Given the description of an element on the screen output the (x, y) to click on. 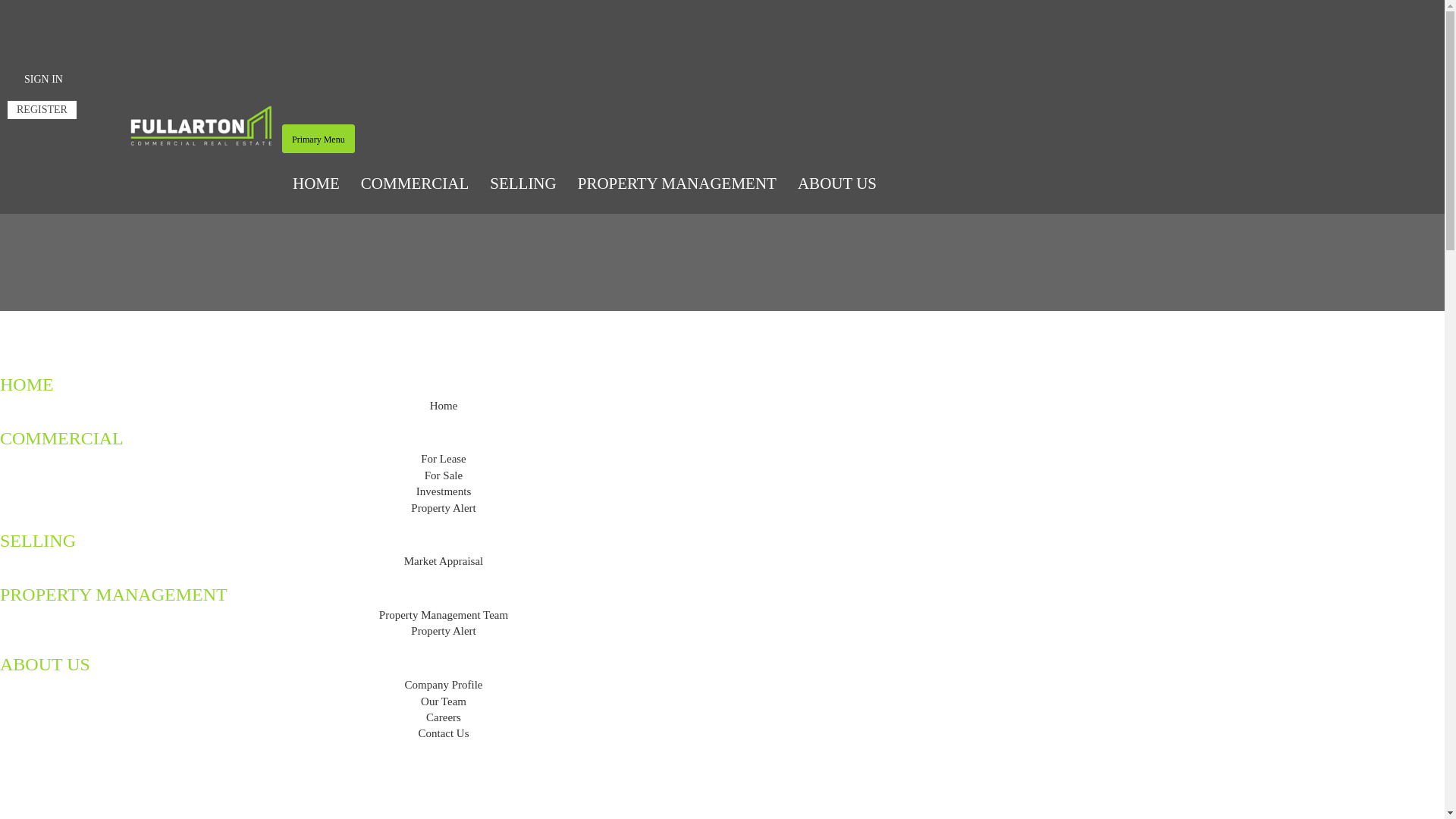
Investments Element type: text (443, 491)
SIGN IN Element type: text (43, 79)
Home Element type: text (30, 156)
HOME Element type: text (316, 183)
SELLING Element type: text (523, 183)
Property Management Team Element type: text (443, 614)
COMMERCIAL Element type: text (414, 183)
For Lease Element type: text (443, 458)
Property Alert Element type: text (443, 508)
Market Appraisal Element type: text (443, 561)
Careers Element type: text (443, 717)
Contact Us Element type: text (442, 733)
Company Profile Element type: text (443, 684)
Home Element type: text (443, 405)
PROPERTY MANAGEMENT Element type: text (677, 183)
REGISTER Element type: text (41, 109)
ABOUT US Element type: text (837, 183)
For Sale Element type: text (443, 475)
Our Team Element type: text (443, 701)
Property Alert Element type: text (443, 630)
Primary Menu Element type: text (318, 138)
